Given the description of an element on the screen output the (x, y) to click on. 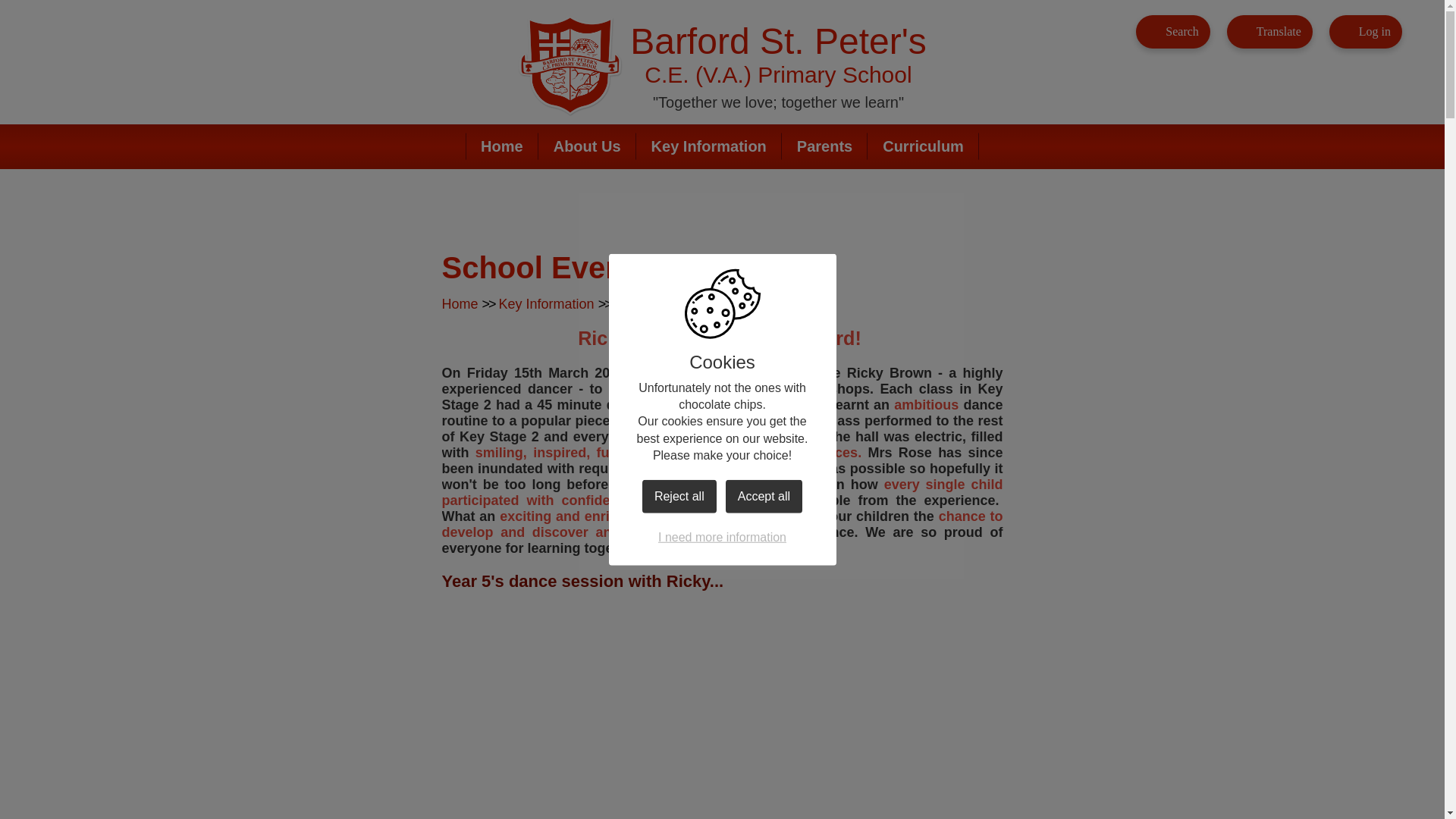
Key Information (708, 146)
Home Page (570, 66)
Log in (1365, 31)
About Us (587, 146)
Search (1172, 31)
Home (501, 146)
Translate (1270, 31)
